Given the description of an element on the screen output the (x, y) to click on. 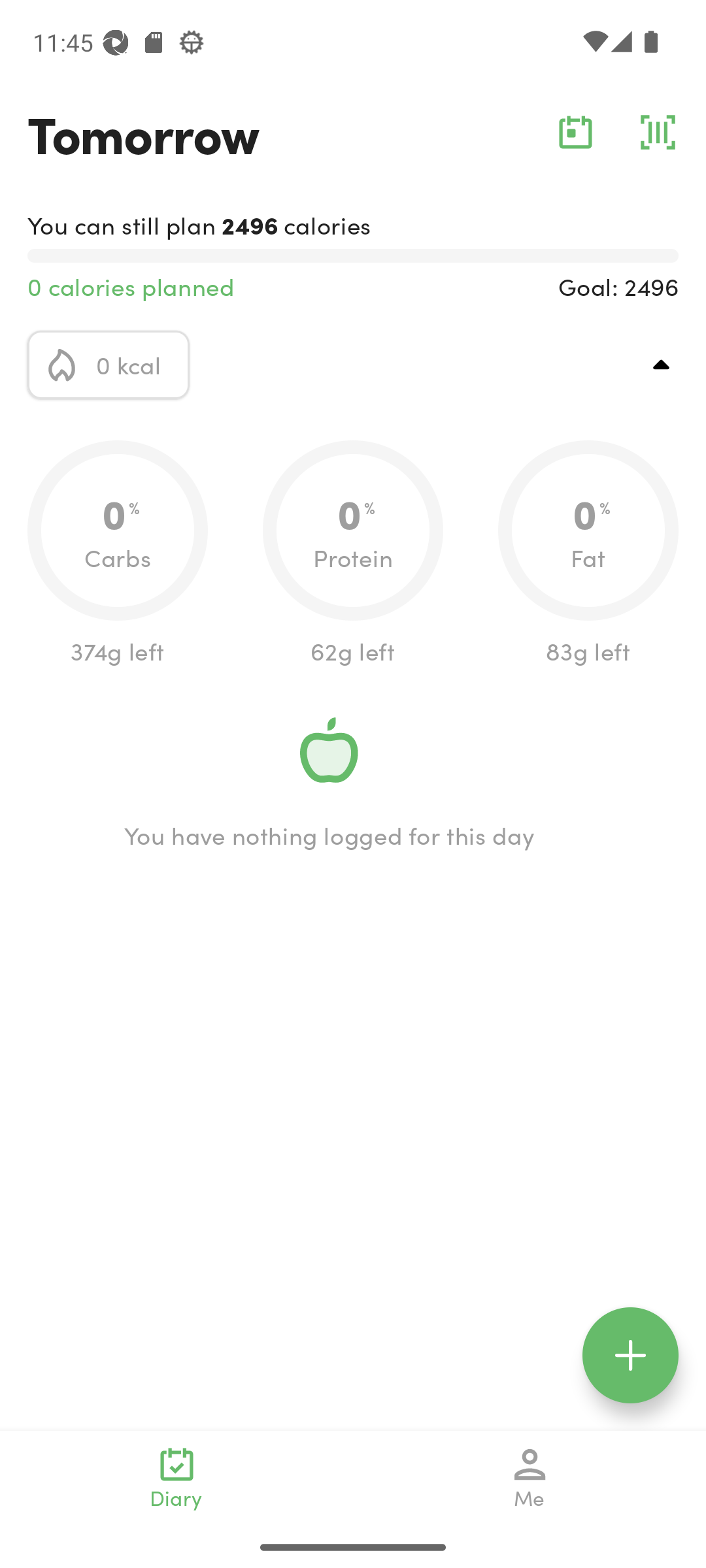
calendar_action (575, 132)
barcode_action (658, 132)
calorie_icon 0 kcal (108, 365)
top_right_action (661, 365)
0.0 0 % Carbs 374g left (117, 553)
0.0 0 % Protein 62g left (352, 553)
0.0 0 % Fat 83g left (588, 553)
floating_action_icon (630, 1355)
Me navigation_icon (529, 1478)
